Given the description of an element on the screen output the (x, y) to click on. 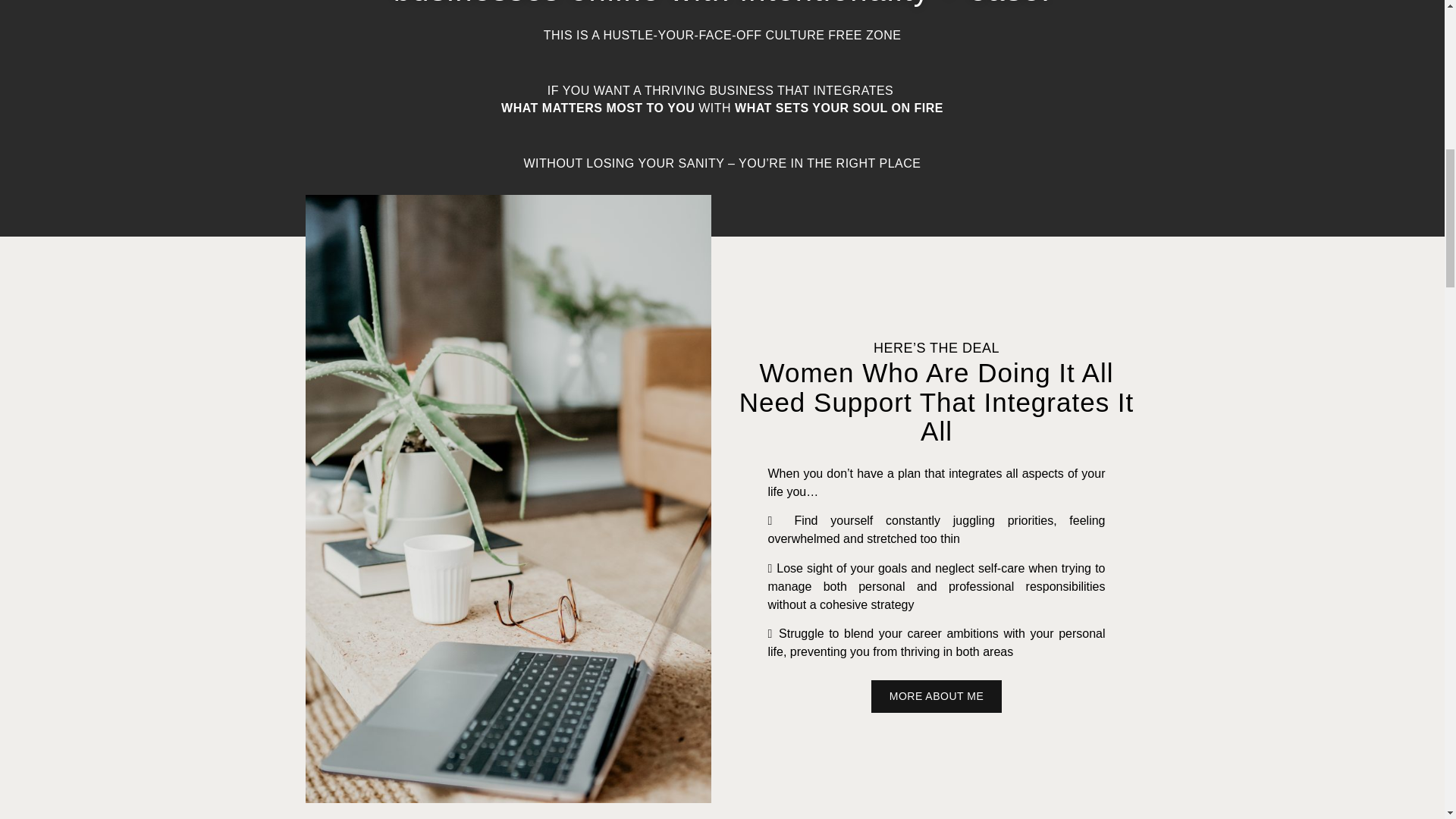
MORE ABOUT ME (935, 696)
